Given the description of an element on the screen output the (x, y) to click on. 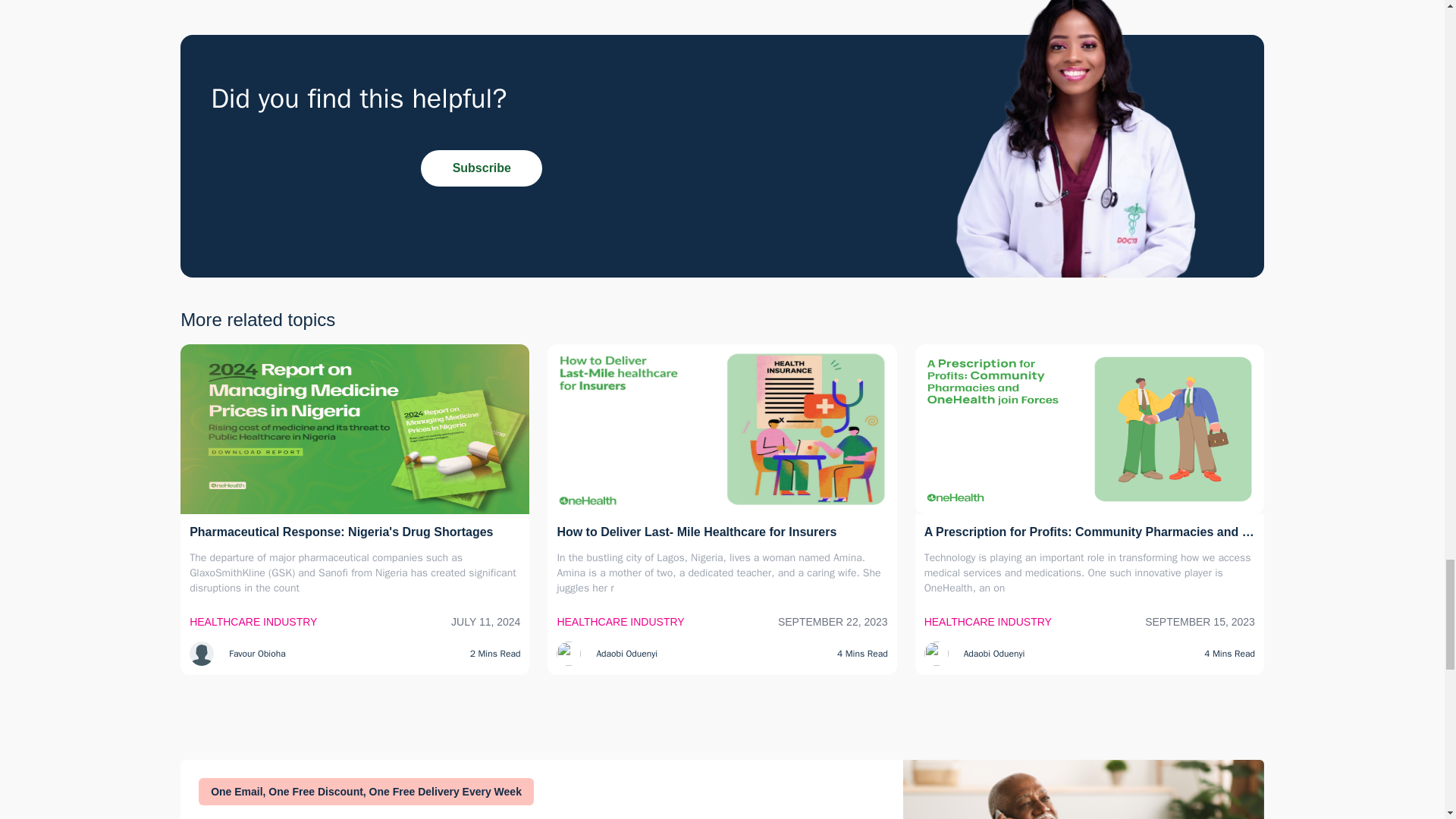
Subscribe (480, 167)
